Given the description of an element on the screen output the (x, y) to click on. 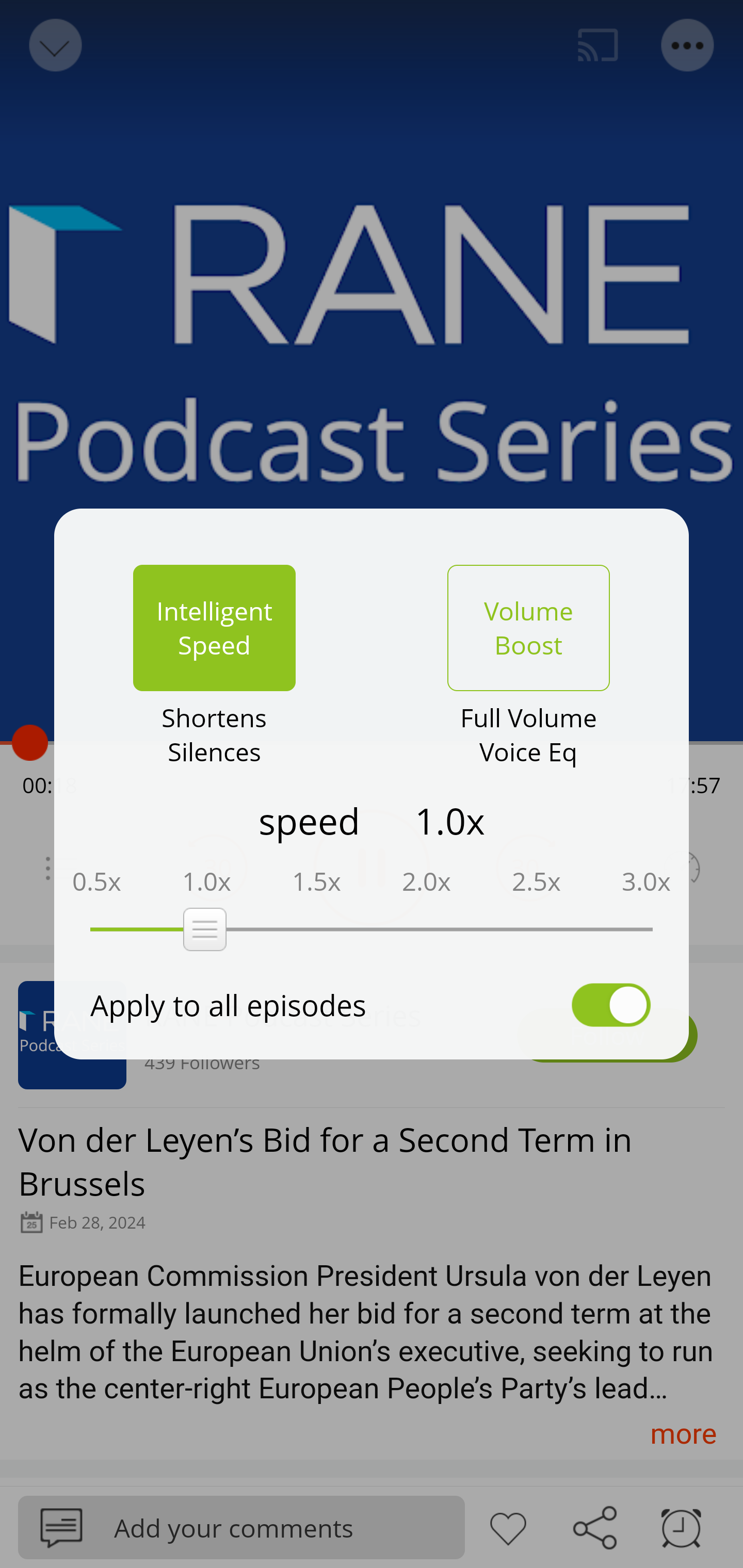
Intelligent
Speed (213, 627)
Volume
Boost (528, 627)
